Given the description of an element on the screen output the (x, y) to click on. 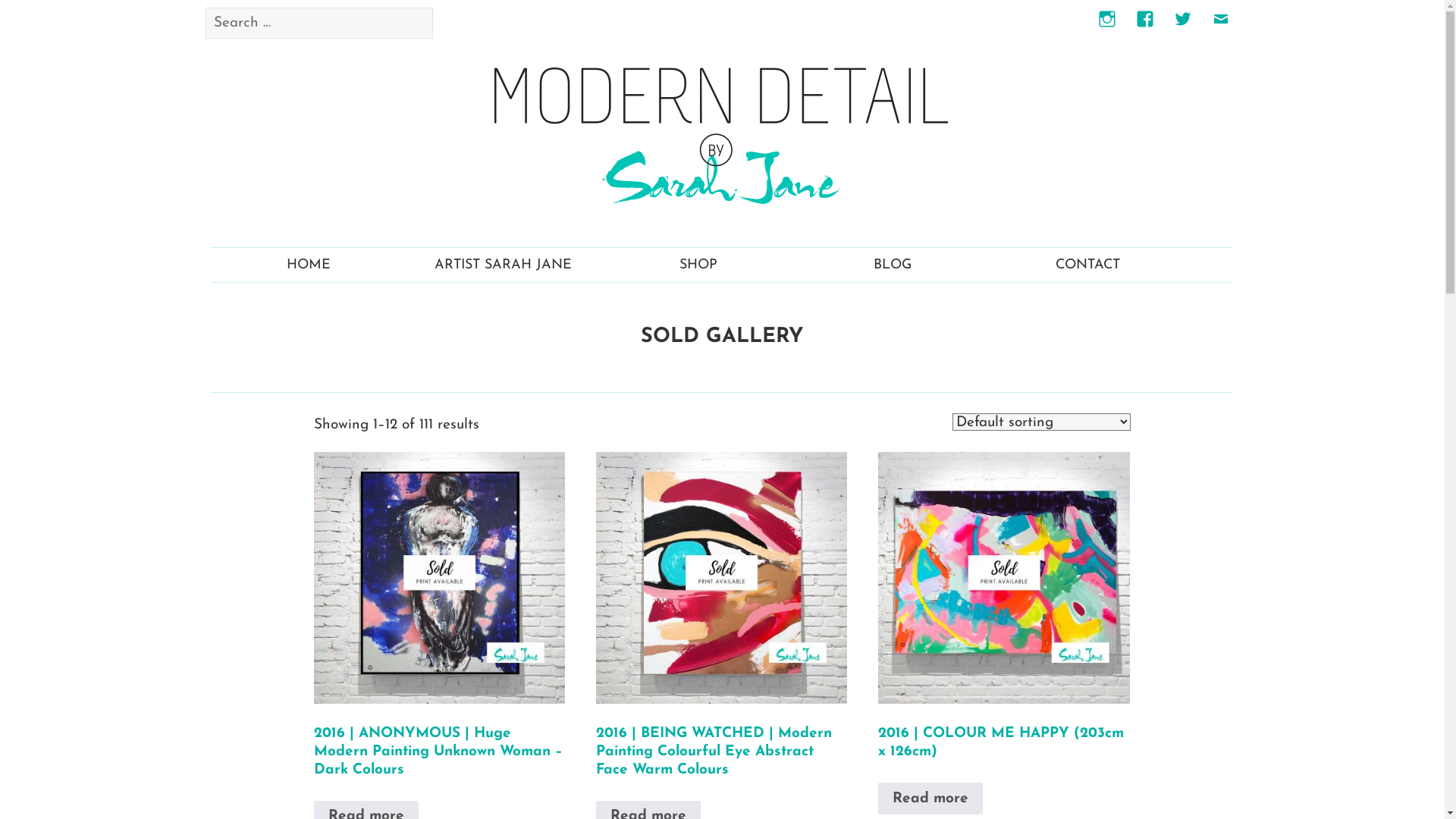
ARTIST SARAH JANE Element type: text (503, 264)
HOME Element type: text (308, 264)
Instagram Element type: text (1106, 27)
CONTACT Element type: text (1088, 264)
Read more Element type: text (930, 798)
BLOG Element type: text (893, 264)
Facebook Element type: text (1144, 27)
2016 | COLOUR ME HAPPY (203cm x 126cm) Element type: text (1003, 628)
Twitter Element type: text (1182, 27)
Modern Detail Element type: hover (722, 135)
Search Element type: text (546, 7)
Modern Detail Element type: hover (722, 135)
SHOP Element type: text (698, 264)
Email Element type: text (1220, 27)
